Given the description of an element on the screen output the (x, y) to click on. 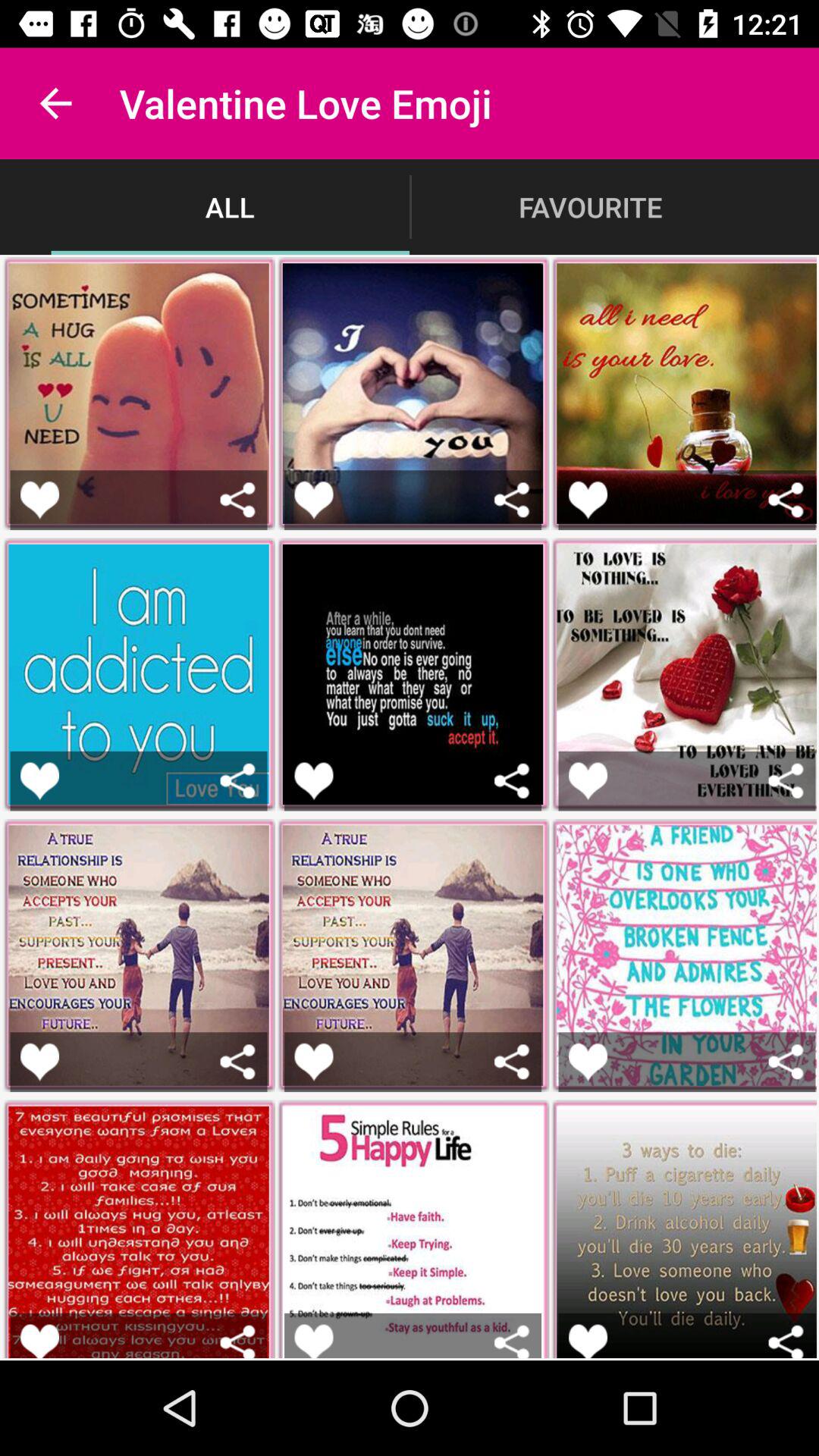
share love emoji (237, 780)
